Given the description of an element on the screen output the (x, y) to click on. 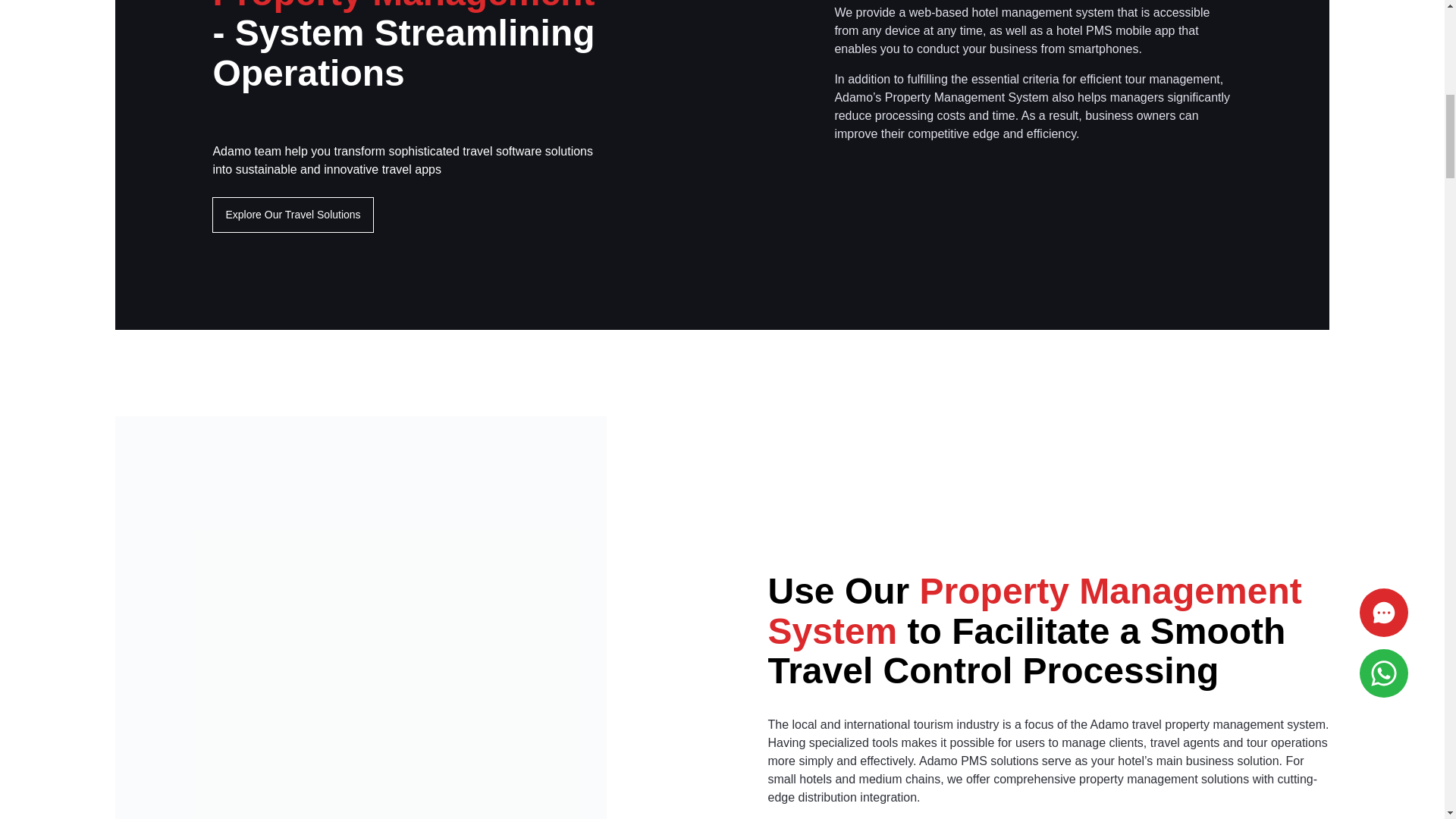
Explore Our Travel Solutions (292, 214)
